Given the description of an element on the screen output the (x, y) to click on. 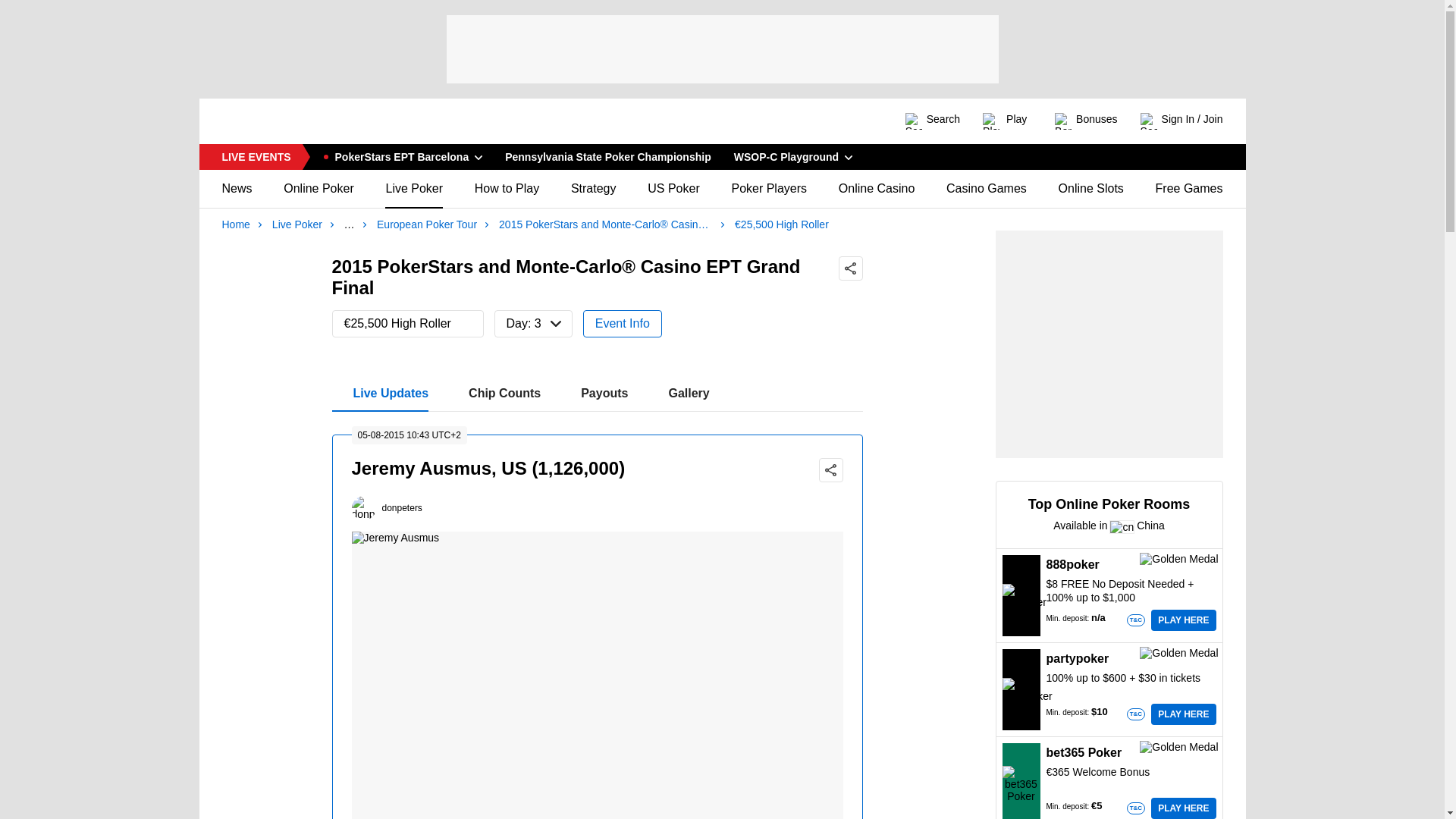
 Pennsylvania State Poker Championship (607, 156)
Play (1007, 121)
Pennsylvania State Poker Championship (607, 156)
Poker News (597, 393)
LIVE EVENTS (289, 121)
bet365 Poker (255, 156)
